Given the description of an element on the screen output the (x, y) to click on. 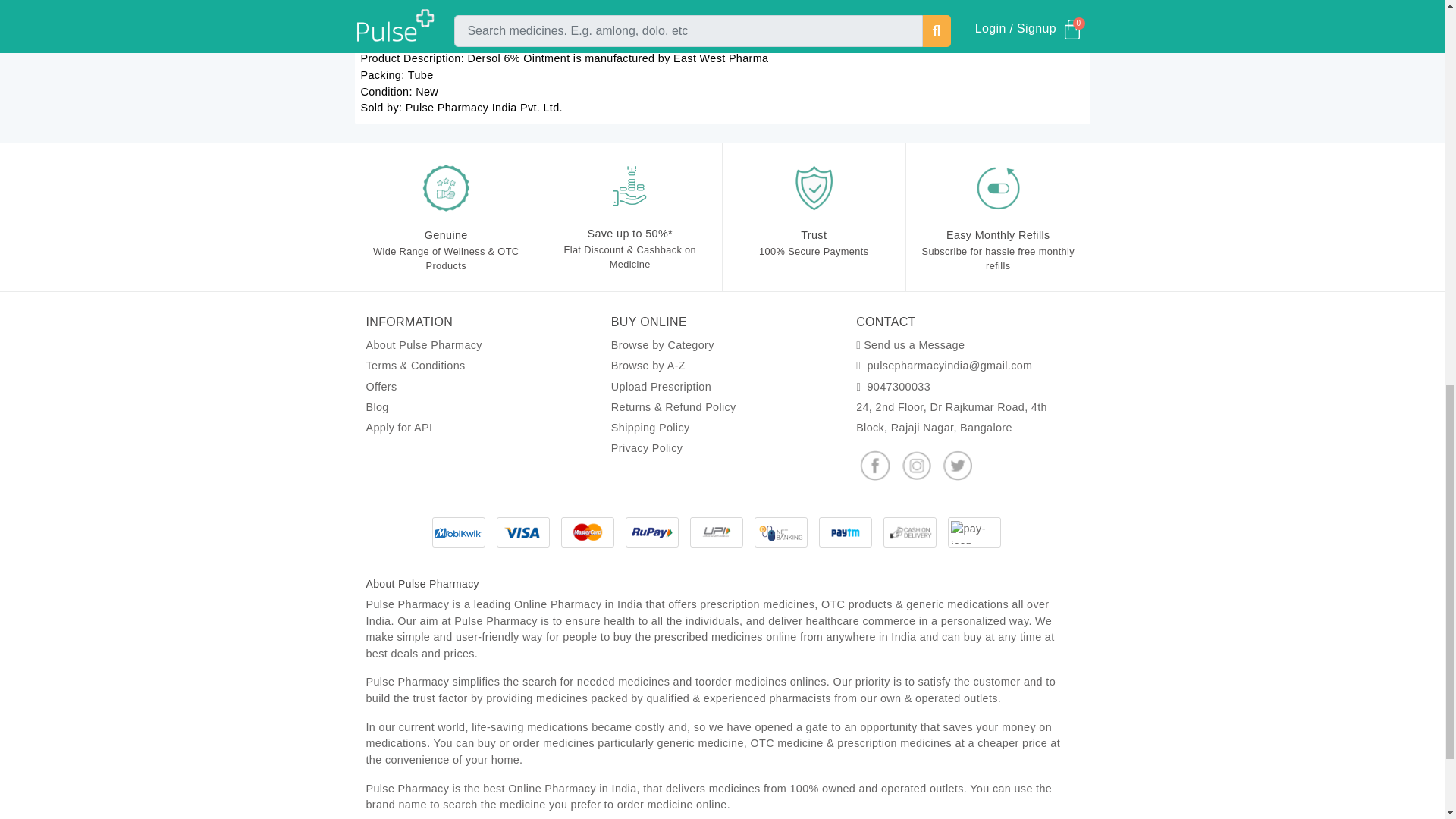
Apply for API (398, 427)
Blog (376, 407)
Browse by Category (662, 345)
Shipping Policy (650, 427)
Privacy Policy (646, 448)
Offers (380, 386)
Upload Prescription (661, 386)
About Pulse Pharmacy (423, 345)
Send us a Message (913, 345)
Browse by A-Z (648, 365)
